Given the description of an element on the screen output the (x, y) to click on. 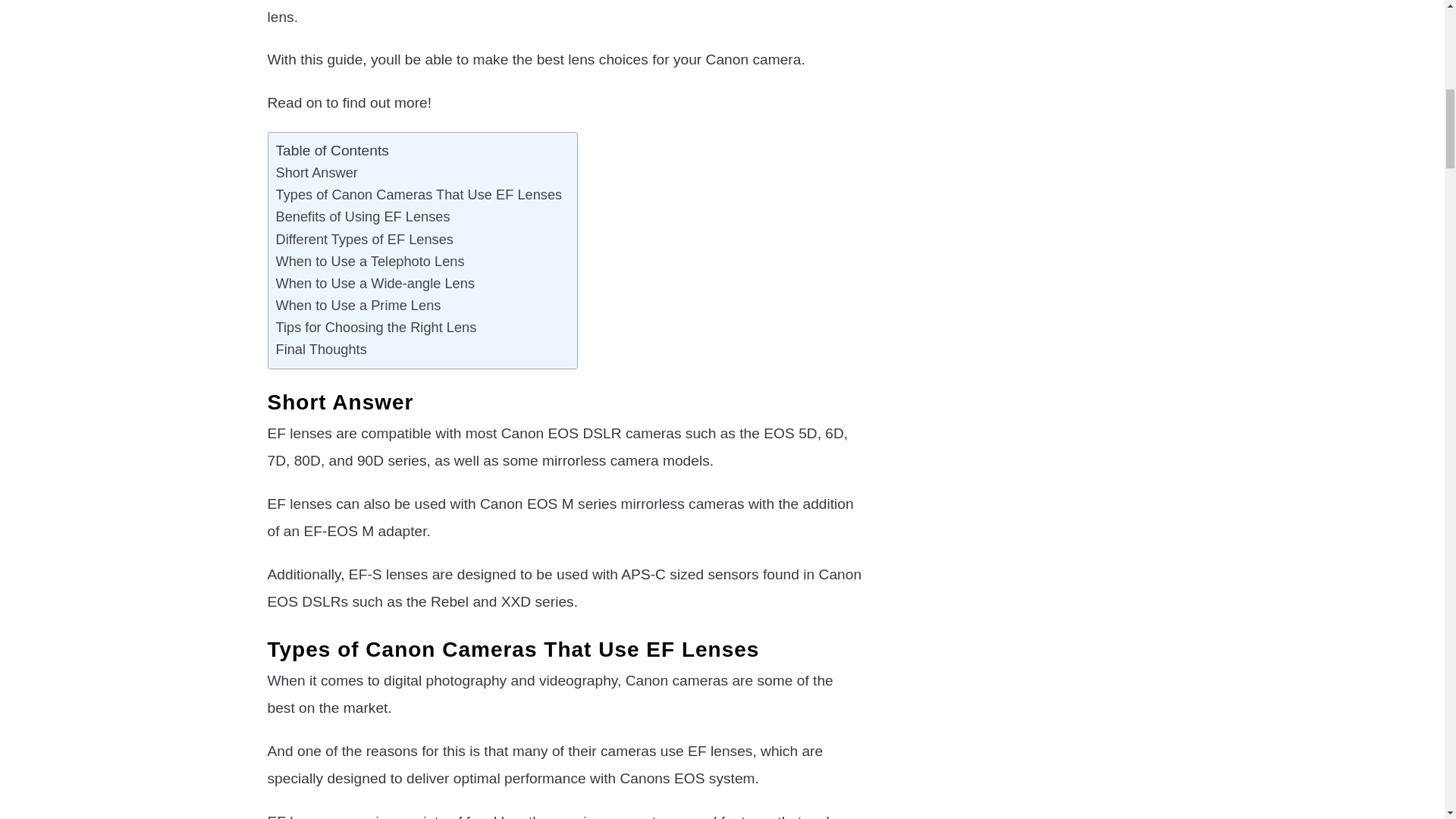
Types of Canon Cameras That Use EF Lenses (419, 194)
Tips for Choosing the Right Lens (376, 327)
When to Use a Telephoto Lens (370, 260)
When to Use a Wide-angle Lens (376, 282)
Benefits of Using EF Lenses (362, 216)
Final Thoughts (321, 349)
Short Answer (317, 172)
Short Answer (317, 172)
When to Use a Prime Lens (358, 305)
Different Types of EF Lenses (364, 238)
